Given the description of an element on the screen output the (x, y) to click on. 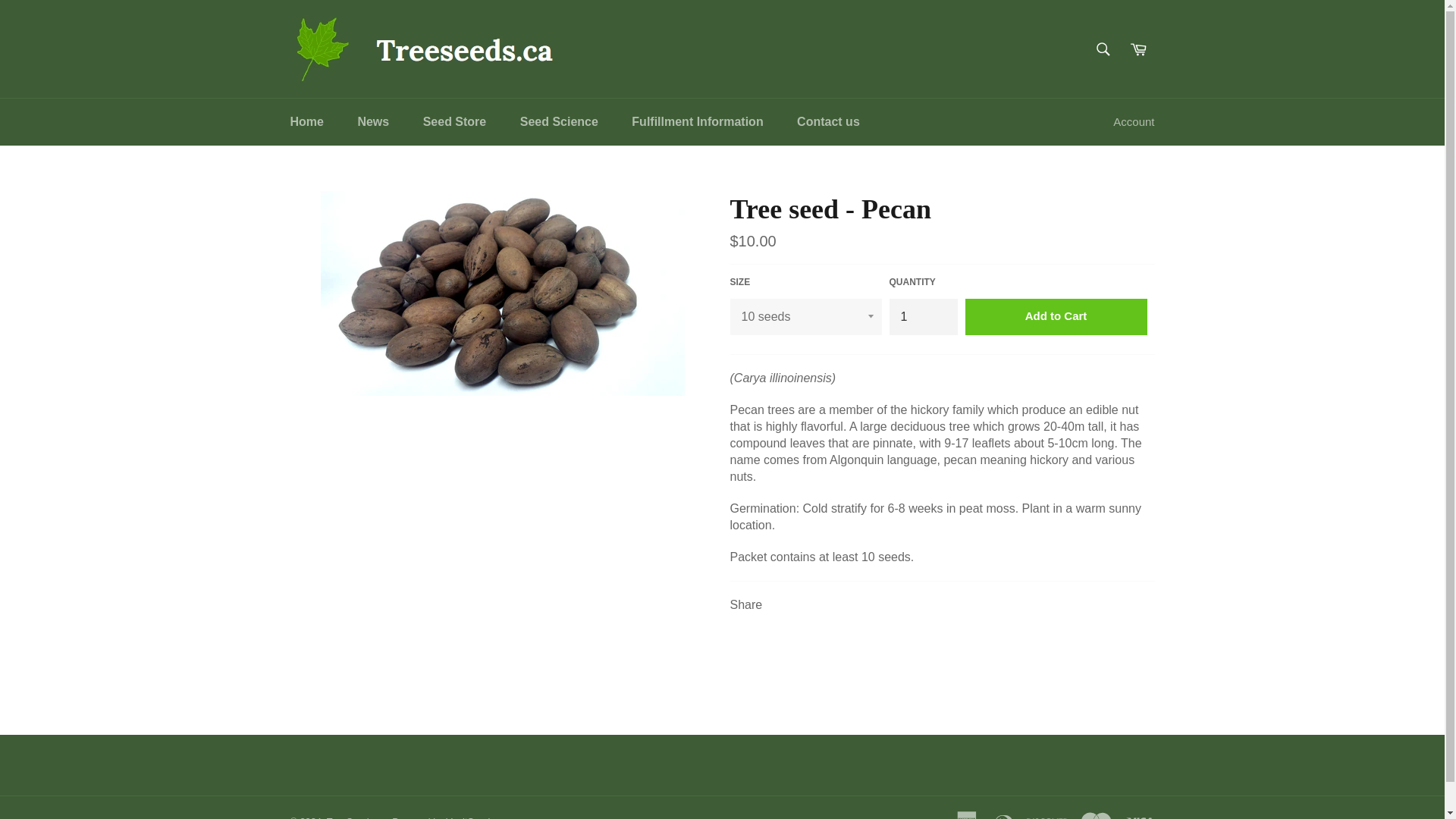
Add to Cart (1055, 316)
Home (306, 121)
Seed Science (558, 121)
Fulfillment Information (696, 121)
Account (1133, 122)
News (373, 121)
1 (922, 316)
TreeSeeds.ca (356, 817)
Cart (1138, 49)
Seed Store (454, 121)
Contact us (828, 121)
Search (1103, 49)
